Given the description of an element on the screen output the (x, y) to click on. 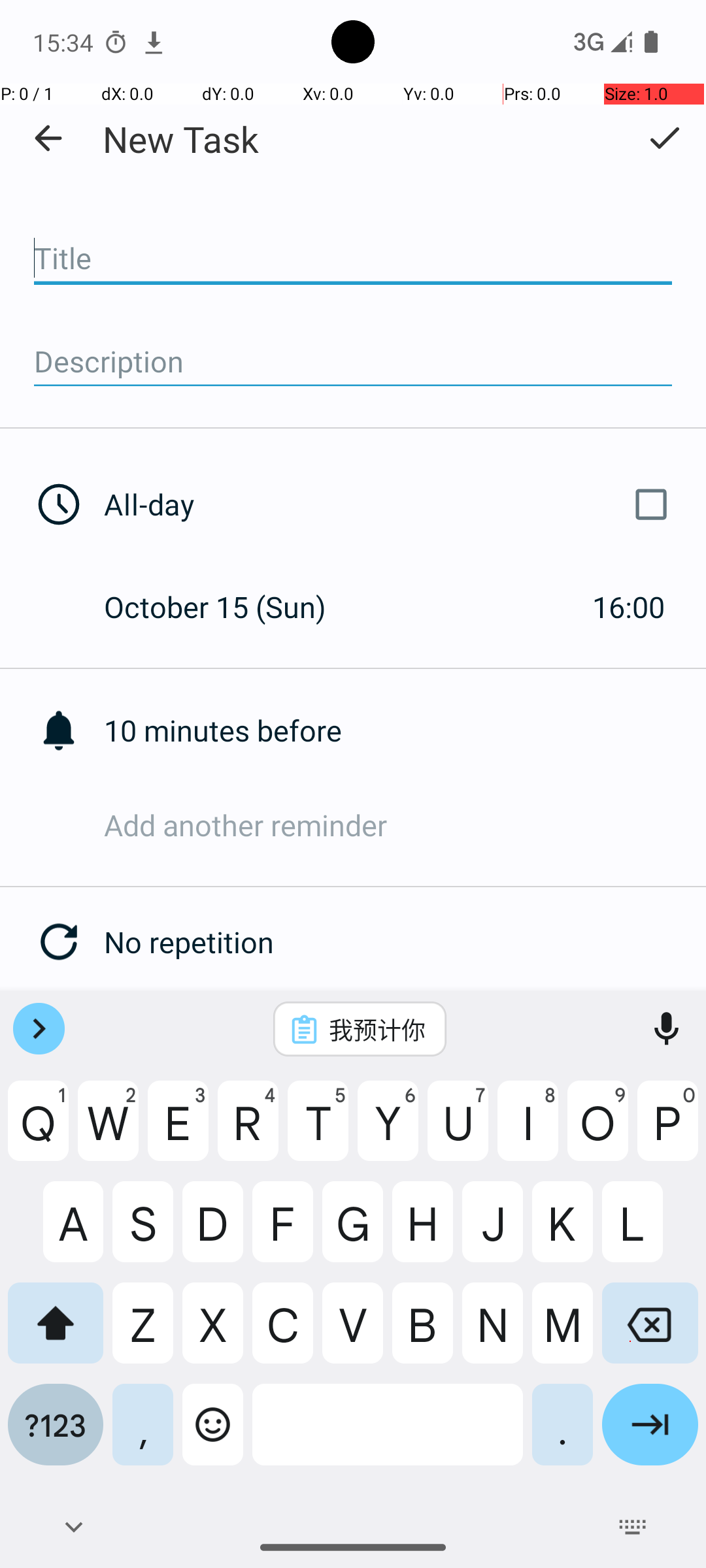
我预计你 Element type: android.widget.TextView (376, 1028)
